Given the description of an element on the screen output the (x, y) to click on. 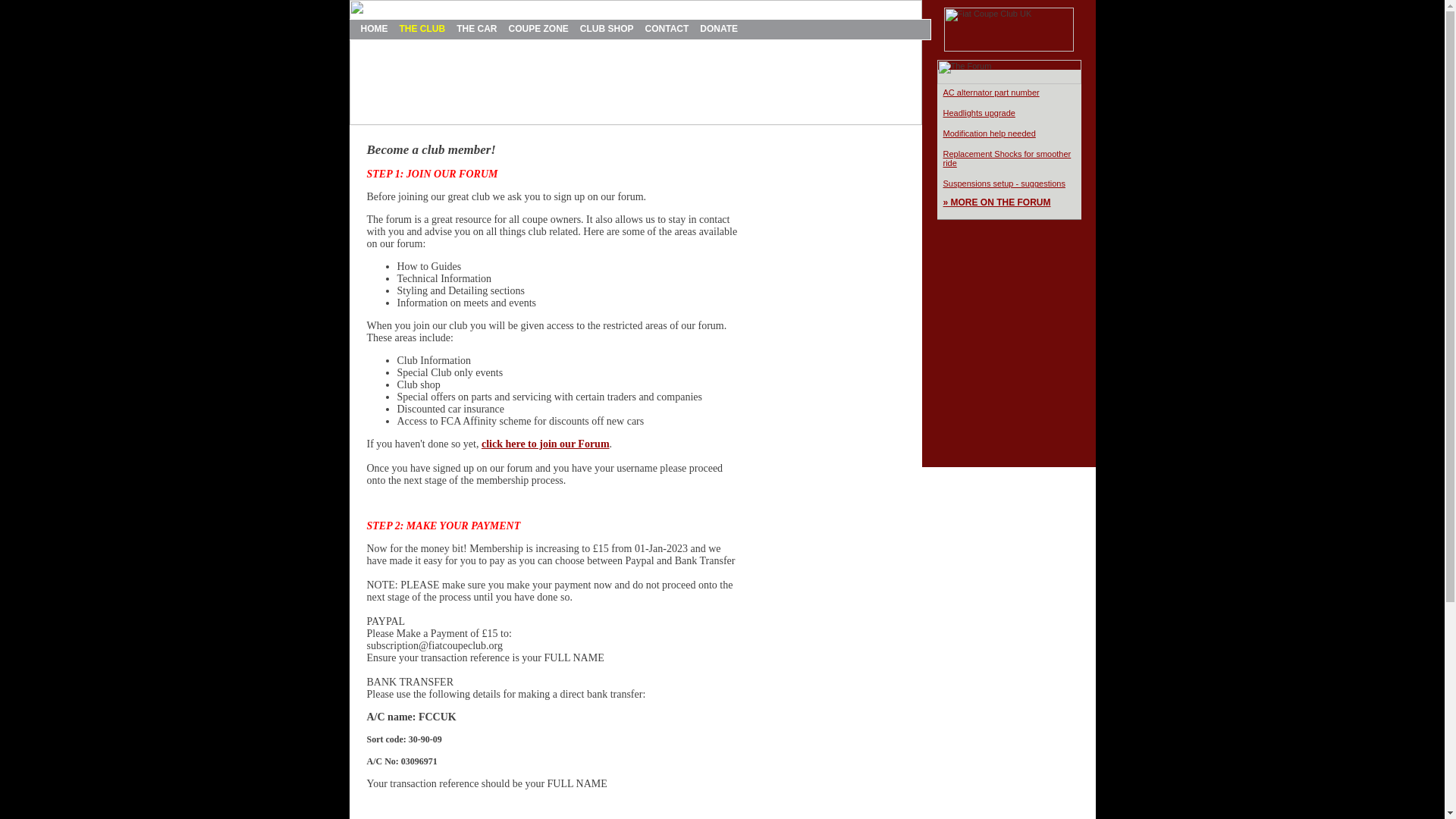
HOME (374, 28)
click here to join our Forum (545, 443)
THE CAR (476, 28)
AC alternator part number (991, 92)
CLUB SHOP (606, 28)
DONATE (719, 28)
THE CLUB (421, 28)
Modification help needed (989, 133)
Headlights upgrade (978, 112)
Replacement Shocks for smoother ride (1007, 158)
CONTACT (666, 28)
Suspensions setup - suggestions (1004, 183)
COUPE ZONE (538, 28)
